Given the description of an element on the screen output the (x, y) to click on. 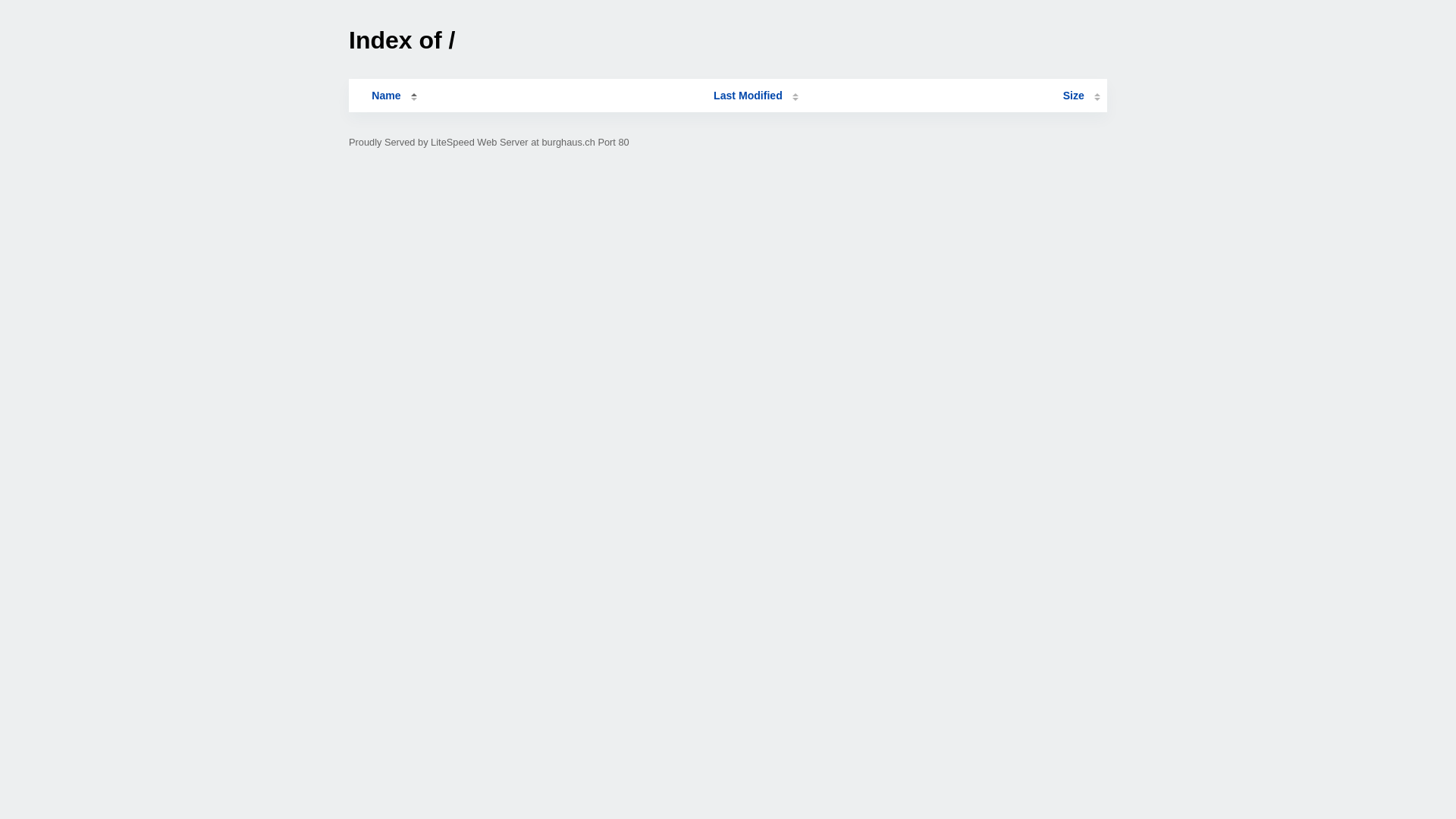
Last Modified Element type: text (755, 95)
Name Element type: text (385, 95)
Size Element type: text (1081, 95)
